Given the description of an element on the screen output the (x, y) to click on. 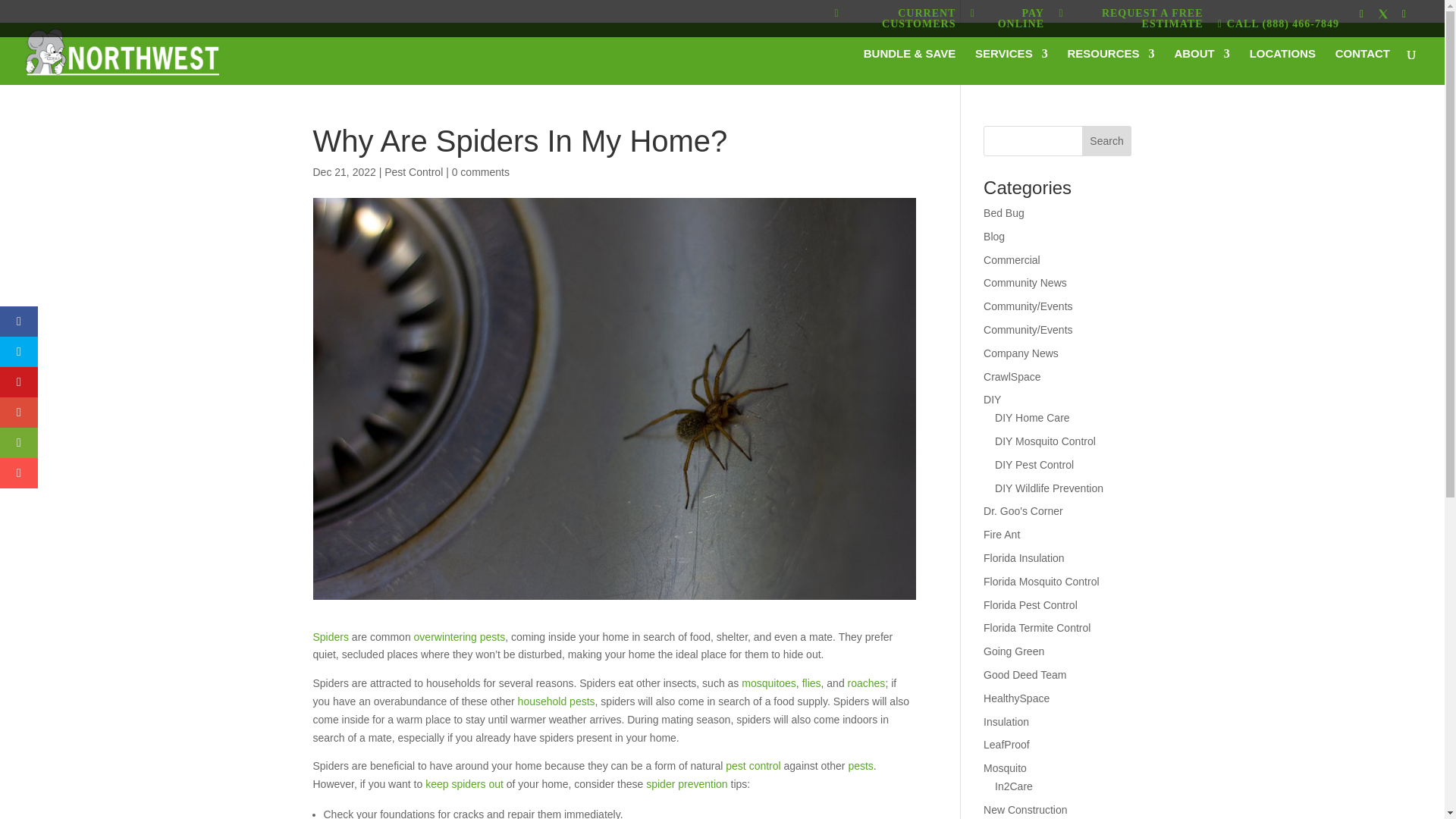
ABOUT (1200, 66)
PAY ONLINE (1007, 21)
RESOURCES (1110, 66)
Search (1106, 141)
CURRENT CUSTOMERS (894, 21)
SERVICES (1011, 66)
REQUEST A FREE ESTIMATE (1130, 21)
